Given the description of an element on the screen output the (x, y) to click on. 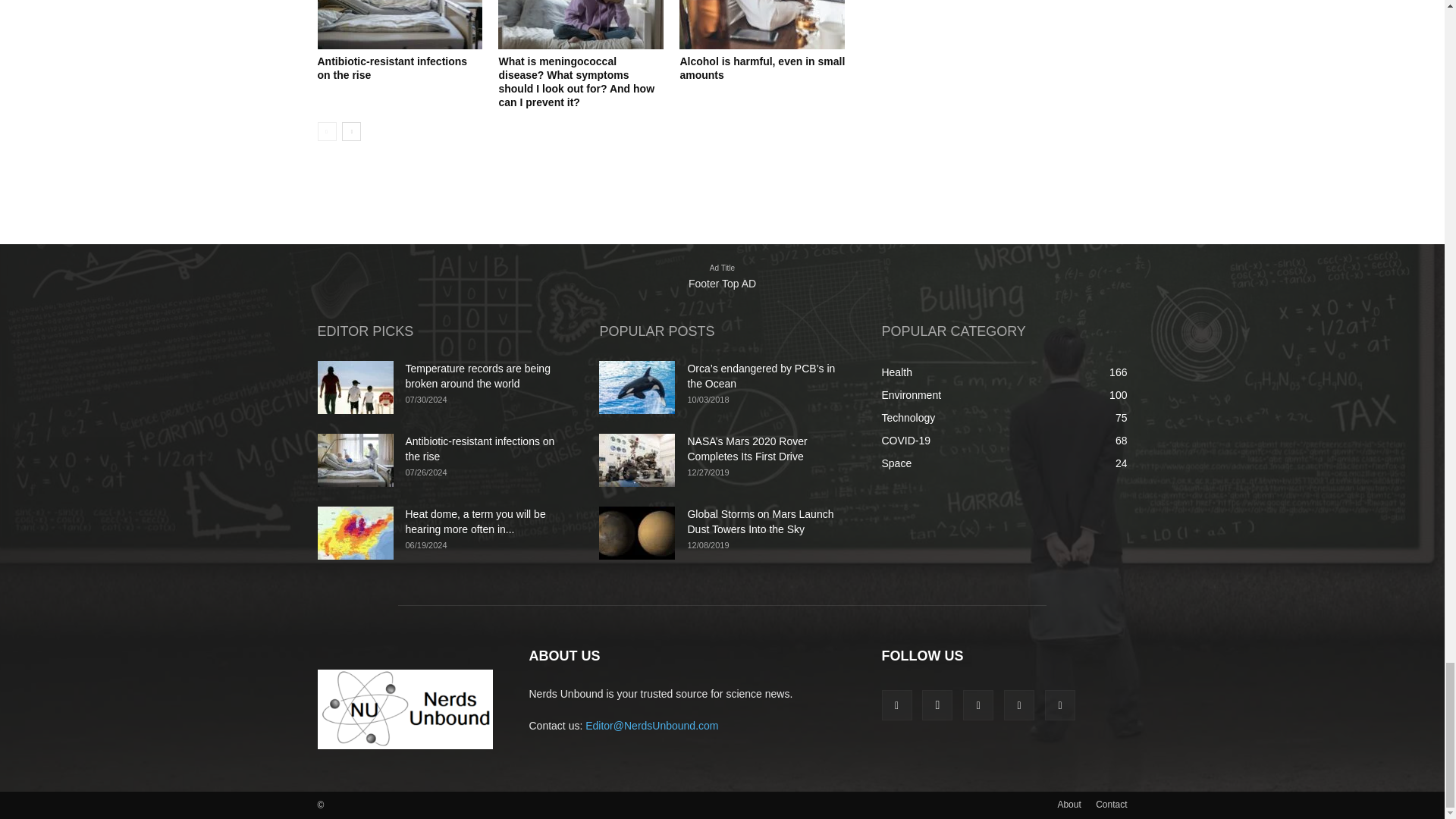
Antibiotic-resistant infections on the rise (399, 24)
